Given the description of an element on the screen output the (x, y) to click on. 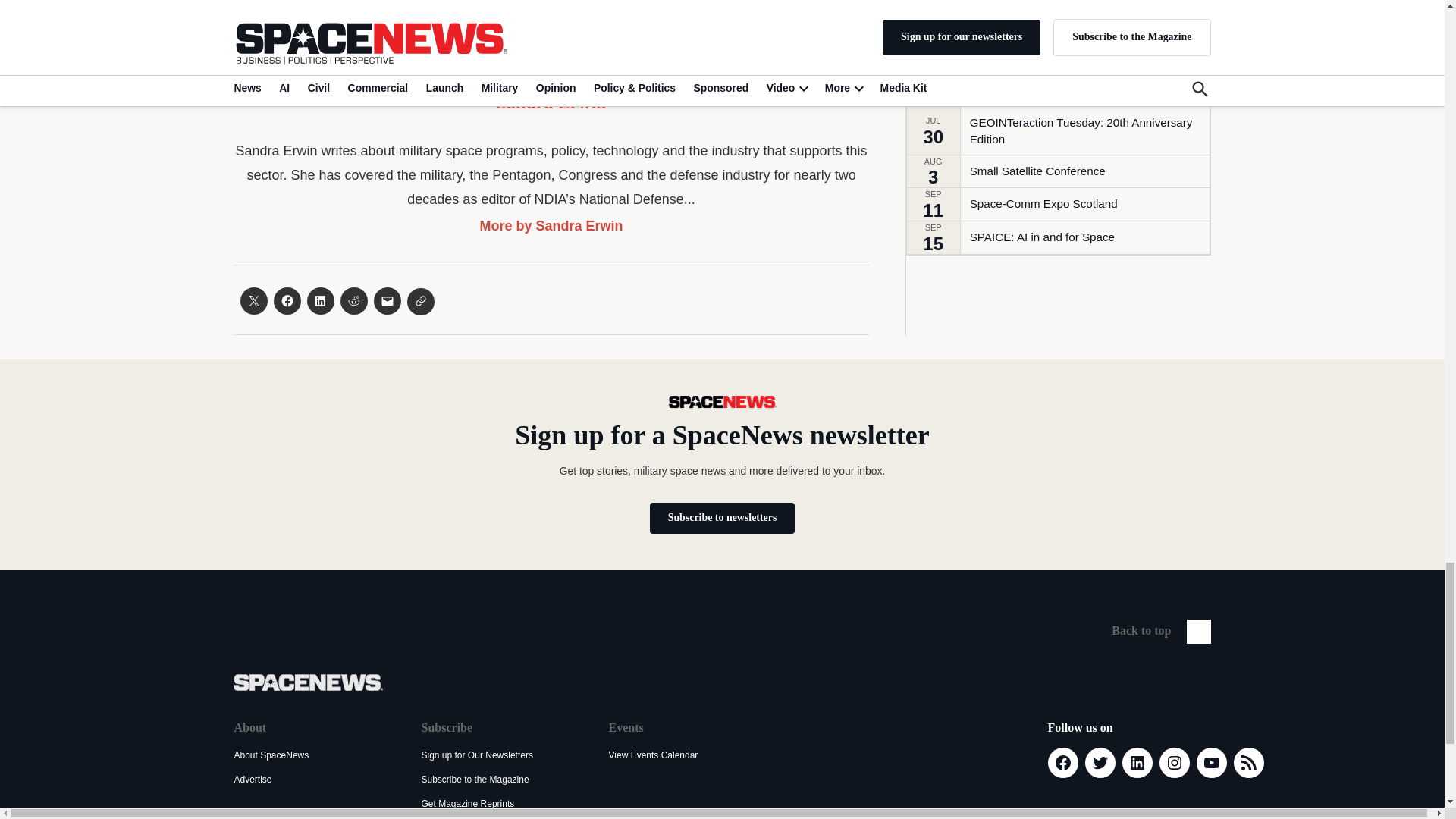
Click to share on Reddit (352, 300)
Click to email a link to a friend (386, 300)
Click to share on X (253, 300)
Click to share on Facebook (286, 300)
Click to share on LinkedIn (319, 300)
Click to share on Clipboard (419, 301)
